Given the description of an element on the screen output the (x, y) to click on. 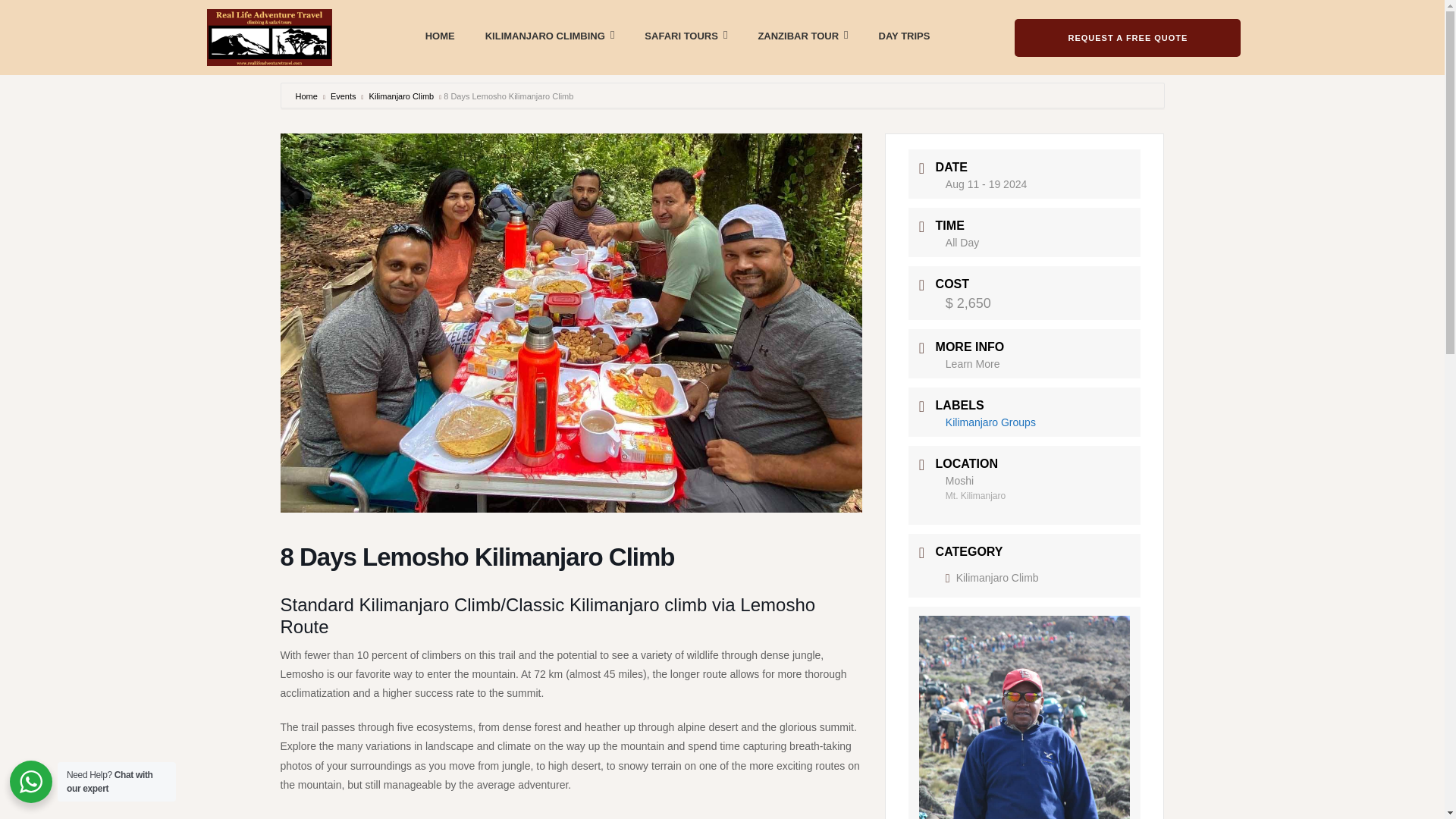
HOME (439, 35)
ZANZIBAR TOUR (802, 35)
KILIMANJARO CLIMBING (549, 35)
DAY TRIPS (904, 35)
SAFARI TOURS (685, 35)
